Given the description of an element on the screen output the (x, y) to click on. 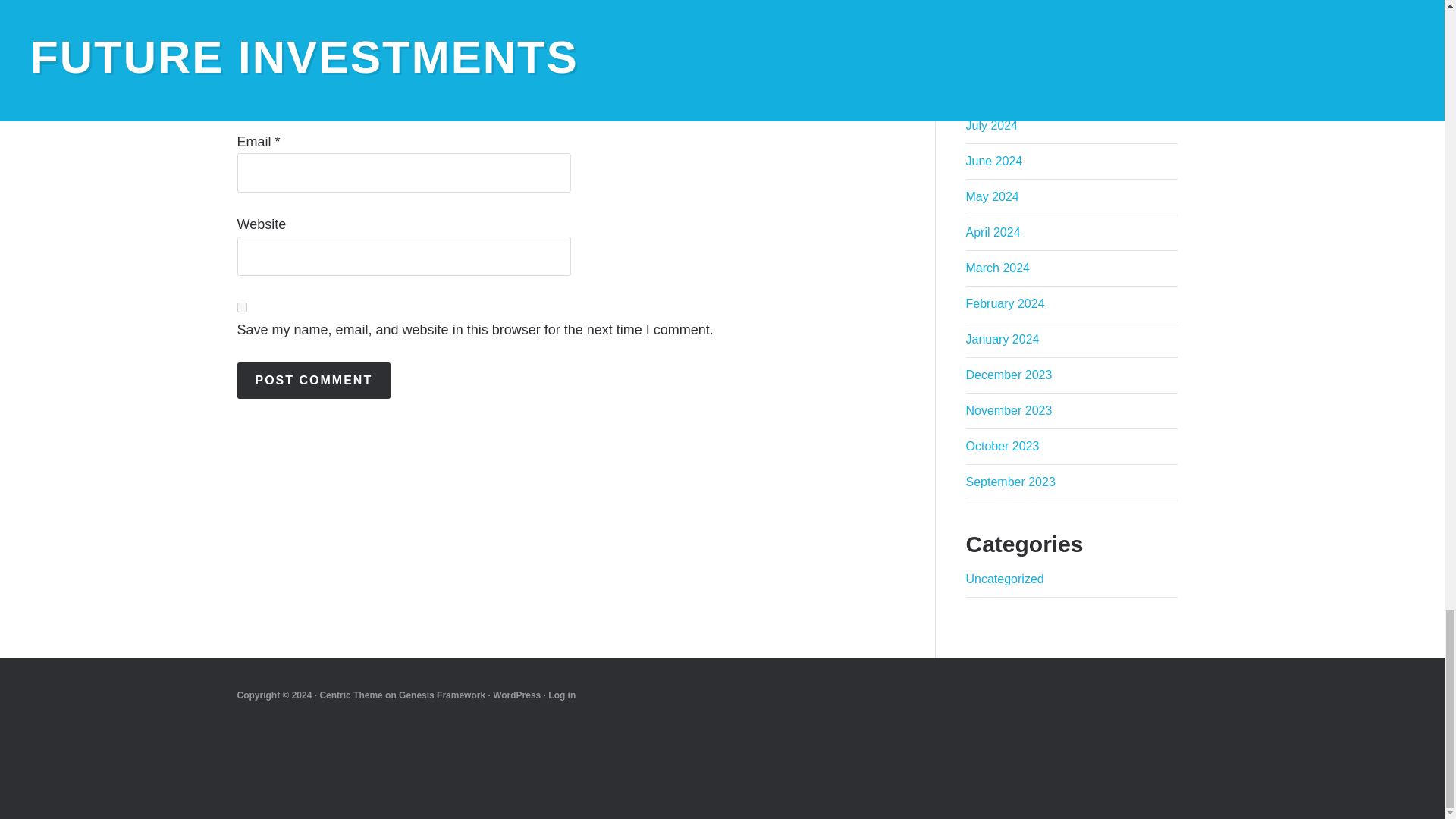
Post Comment (312, 380)
yes (240, 307)
Post Comment (312, 380)
